Given the description of an element on the screen output the (x, y) to click on. 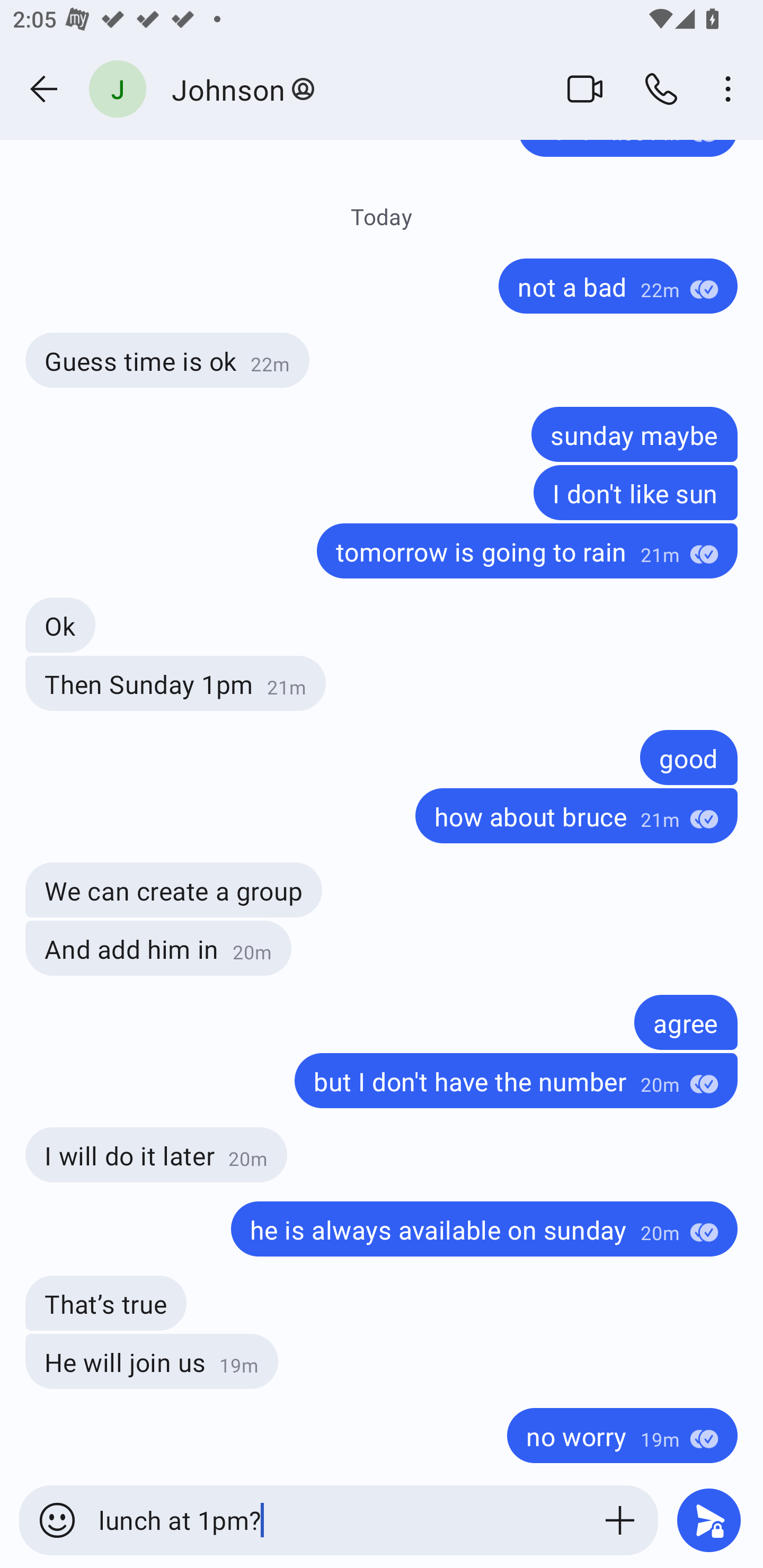
Send message (708, 1520)
